Given the description of an element on the screen output the (x, y) to click on. 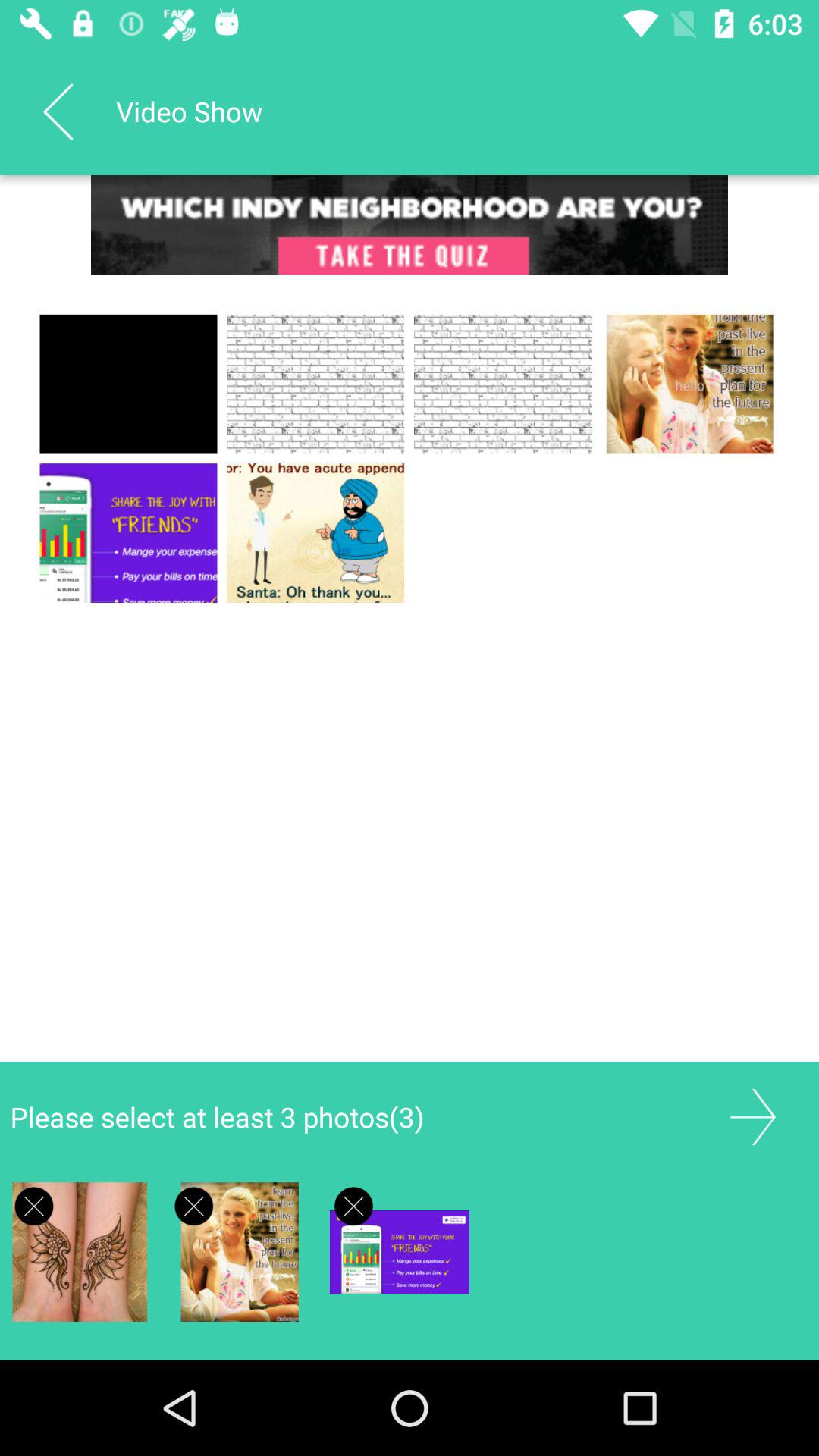
delete photo (353, 1206)
